Given the description of an element on the screen output the (x, y) to click on. 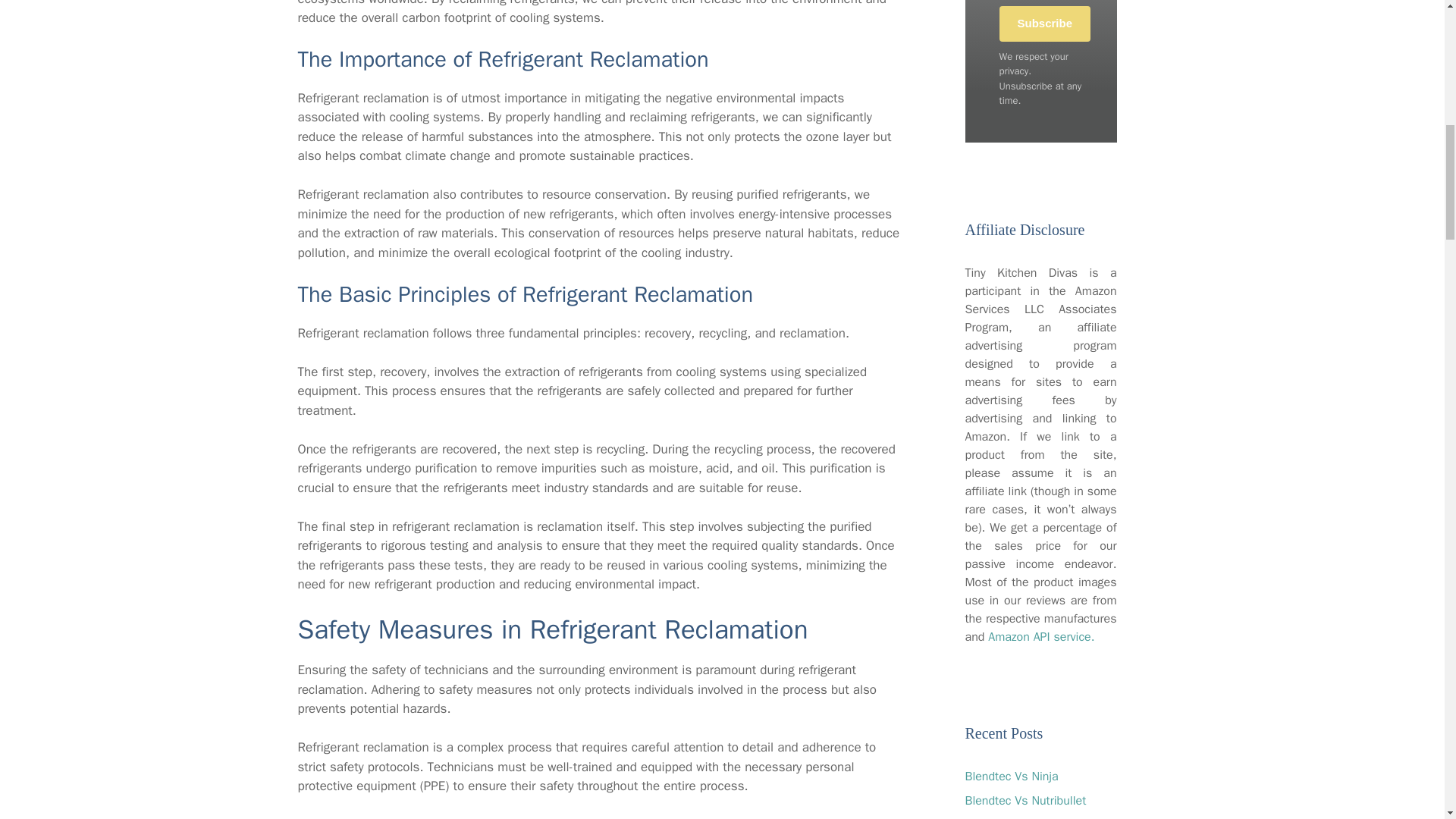
Amazon API service. (1041, 636)
Subscribe (1044, 23)
Blendtec Vs Nutribullet (1024, 800)
Blendtec Vs Ninja (1010, 776)
Scroll back to top (1406, 720)
